Given the description of an element on the screen output the (x, y) to click on. 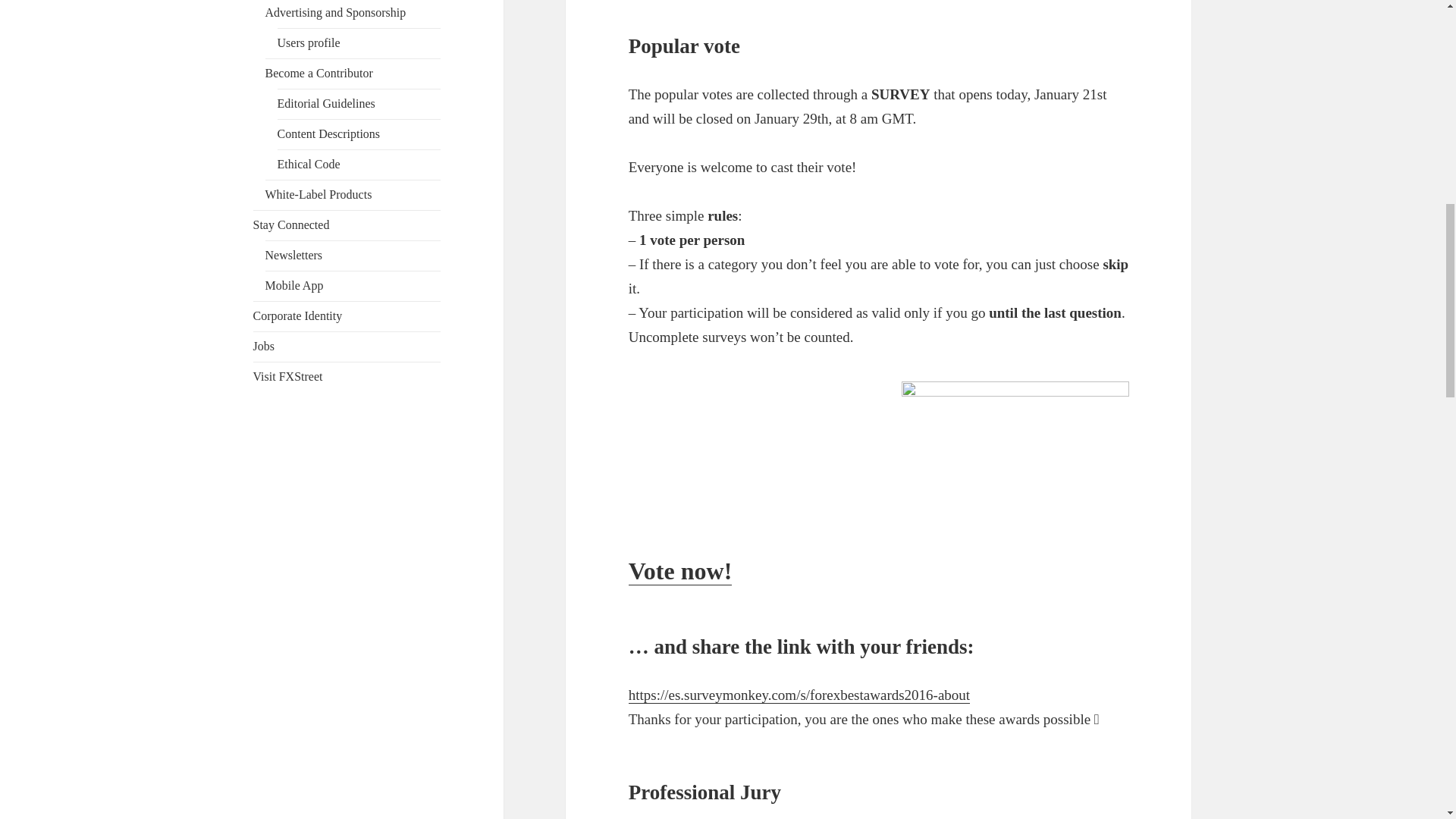
Newsletters (293, 254)
Editorial Guidelines (326, 103)
Stay Connected (291, 224)
Vote now! (680, 571)
Content Descriptions (329, 133)
White-Label Products (318, 194)
Jobs (264, 345)
Visit FXStreet (288, 376)
Mobile App (293, 285)
Become a Contributor (318, 72)
